Given the description of an element on the screen output the (x, y) to click on. 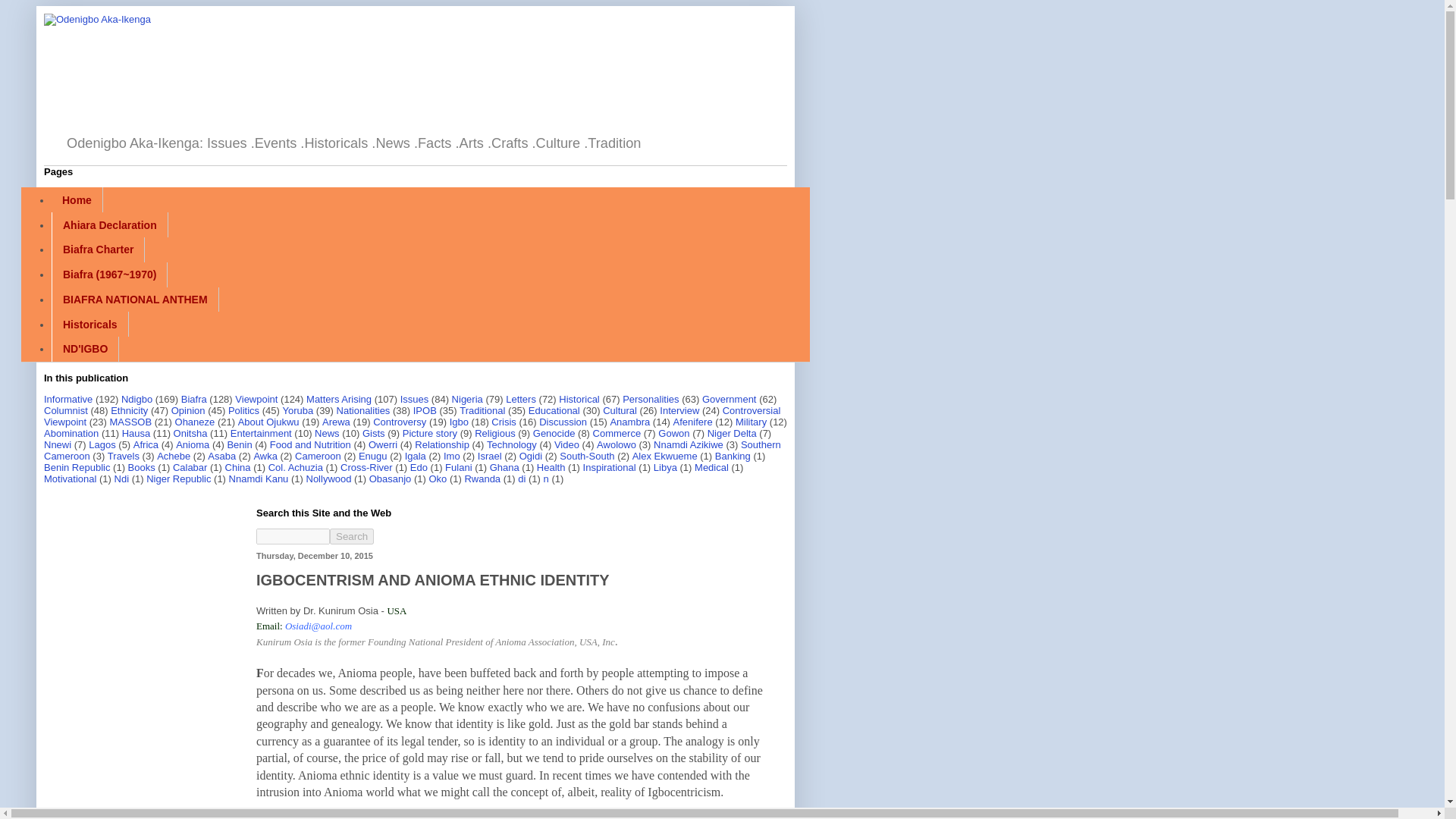
ND'IGBO (84, 348)
Igbo (458, 421)
Crisis (504, 421)
About Ojukwu (268, 421)
Cultural (619, 410)
Home (76, 199)
Ethnicity (129, 410)
Controversial Viewpoint (411, 415)
Politics (243, 410)
Search (352, 536)
Ndigbo (136, 398)
Educational (553, 410)
Viewpoint (256, 398)
MASSOB (131, 421)
Search (352, 536)
